Given the description of an element on the screen output the (x, y) to click on. 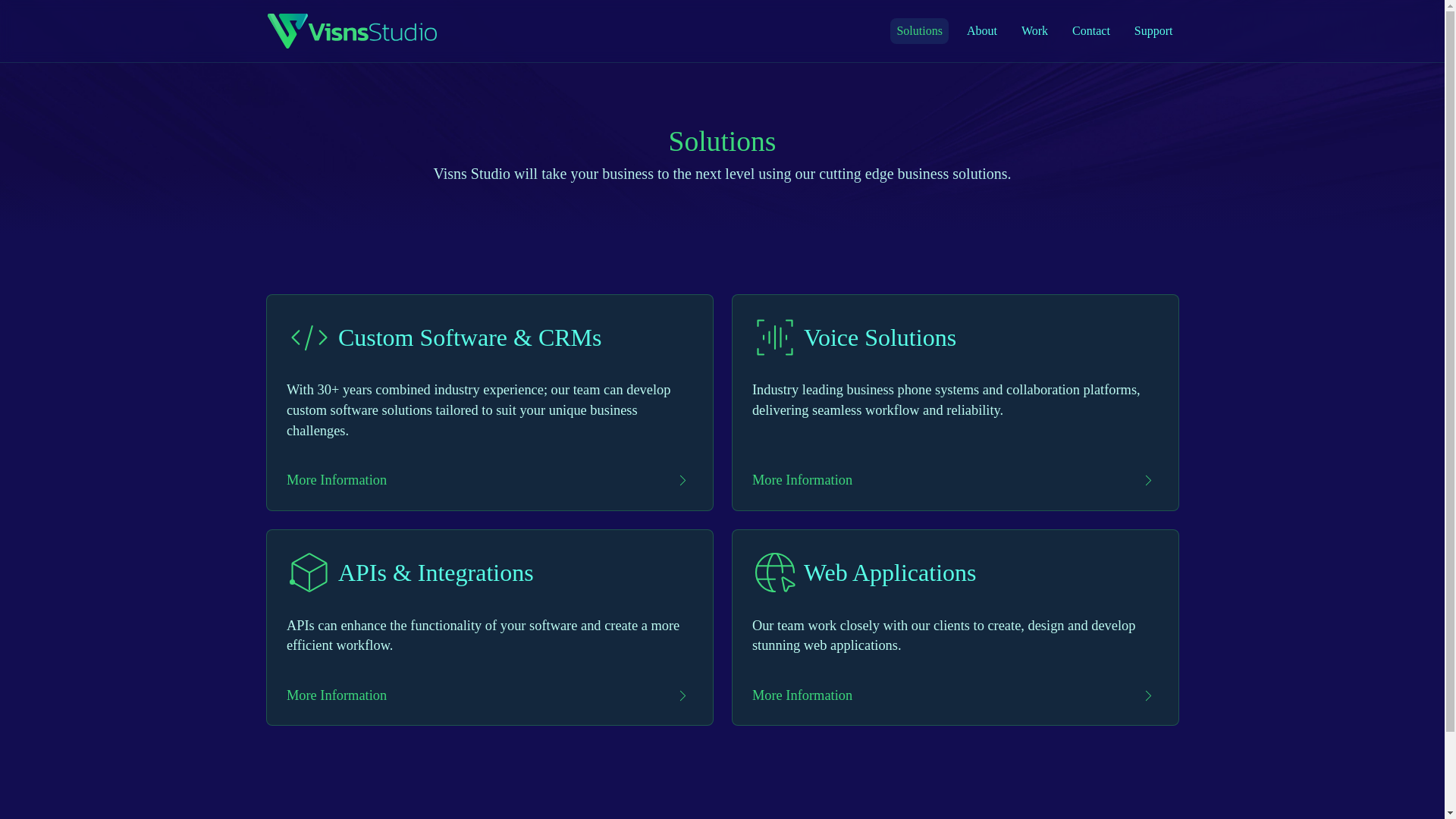
Work (1034, 31)
Support (1153, 31)
Solutions (918, 31)
About (981, 31)
Contact (1090, 31)
